Given the description of an element on the screen output the (x, y) to click on. 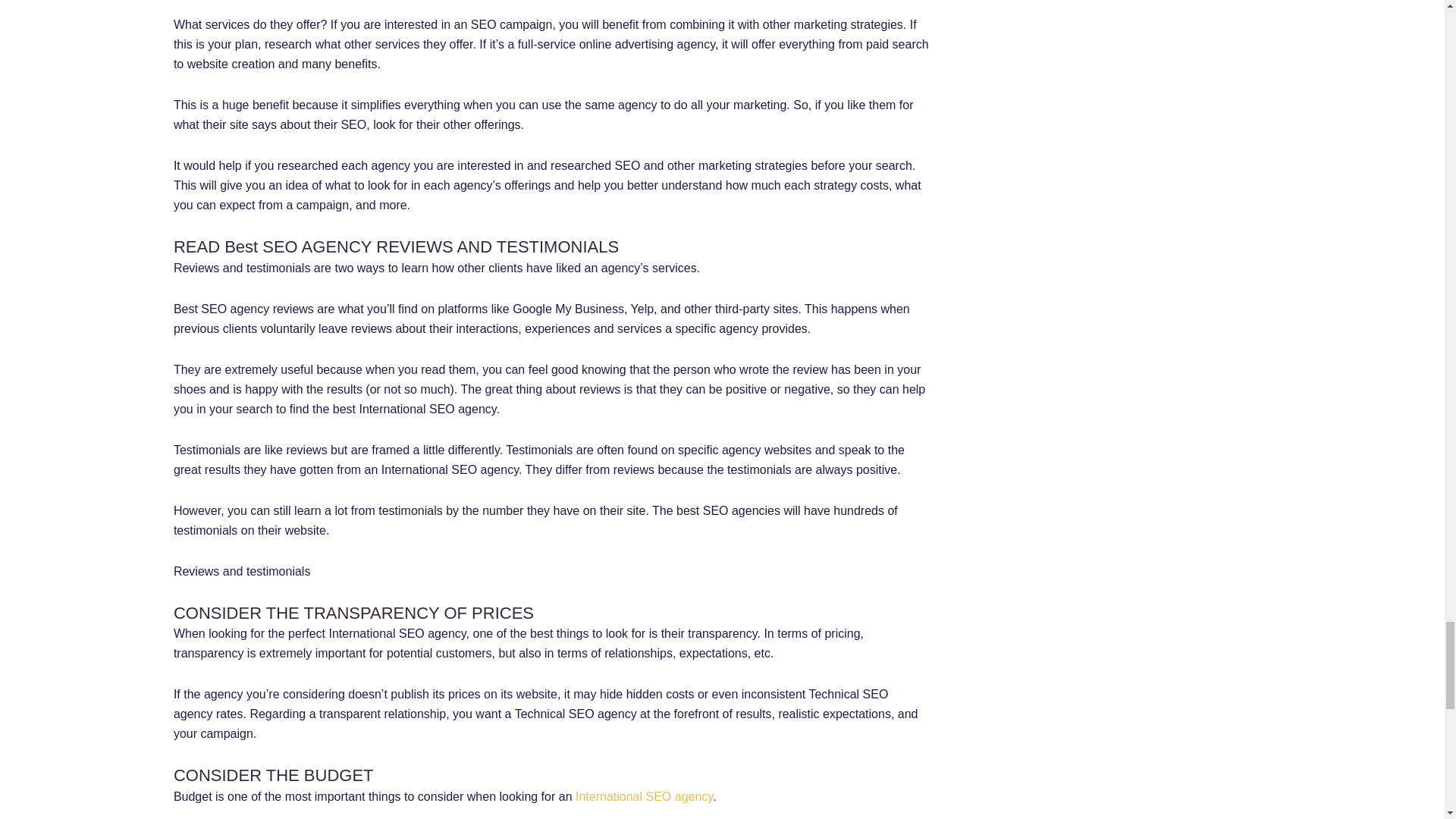
International SEO agency (644, 796)
